Given the description of an element on the screen output the (x, y) to click on. 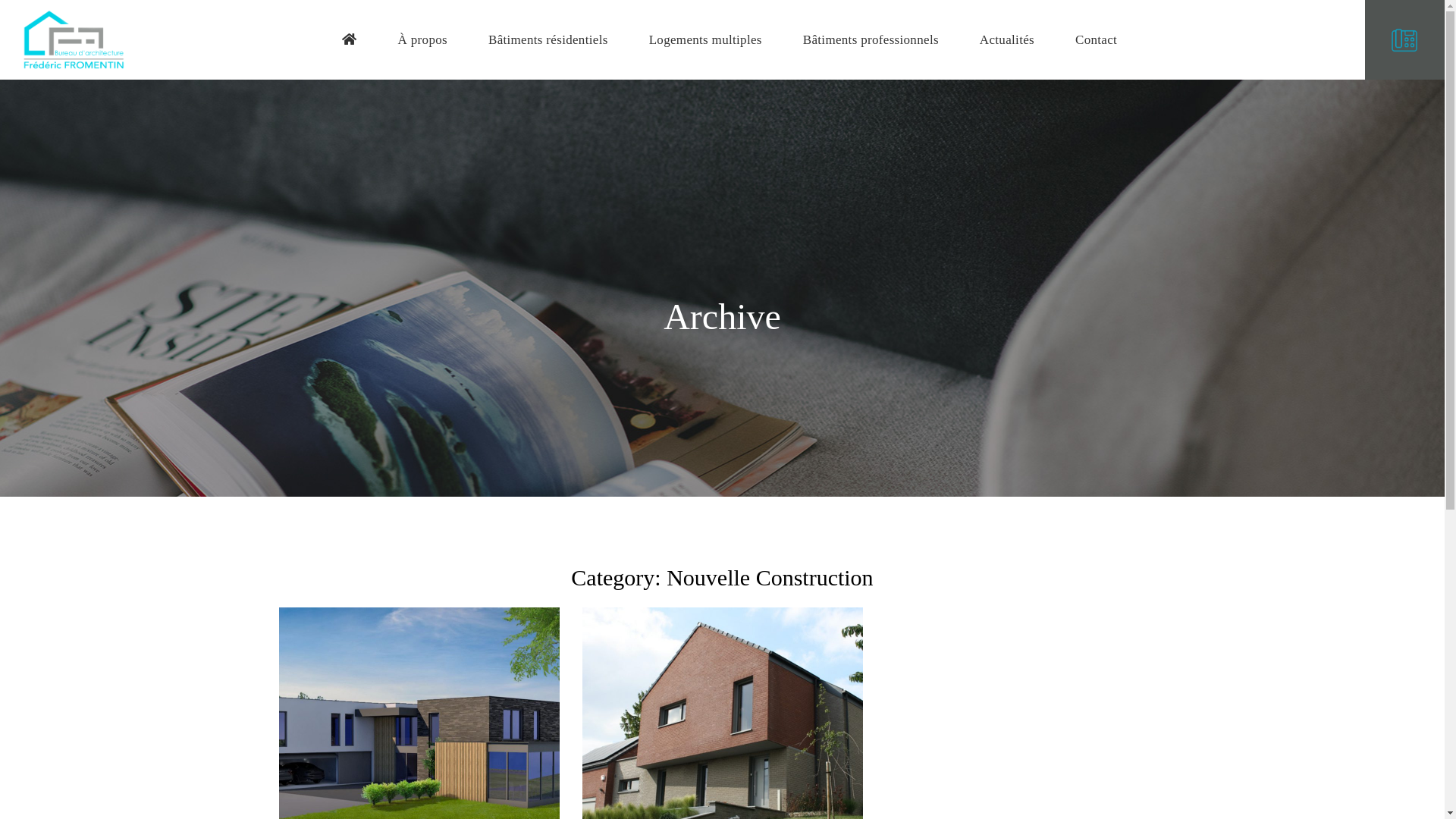
Contact Element type: text (1095, 39)
Logements multiples Element type: text (705, 39)
